Given the description of an element on the screen output the (x, y) to click on. 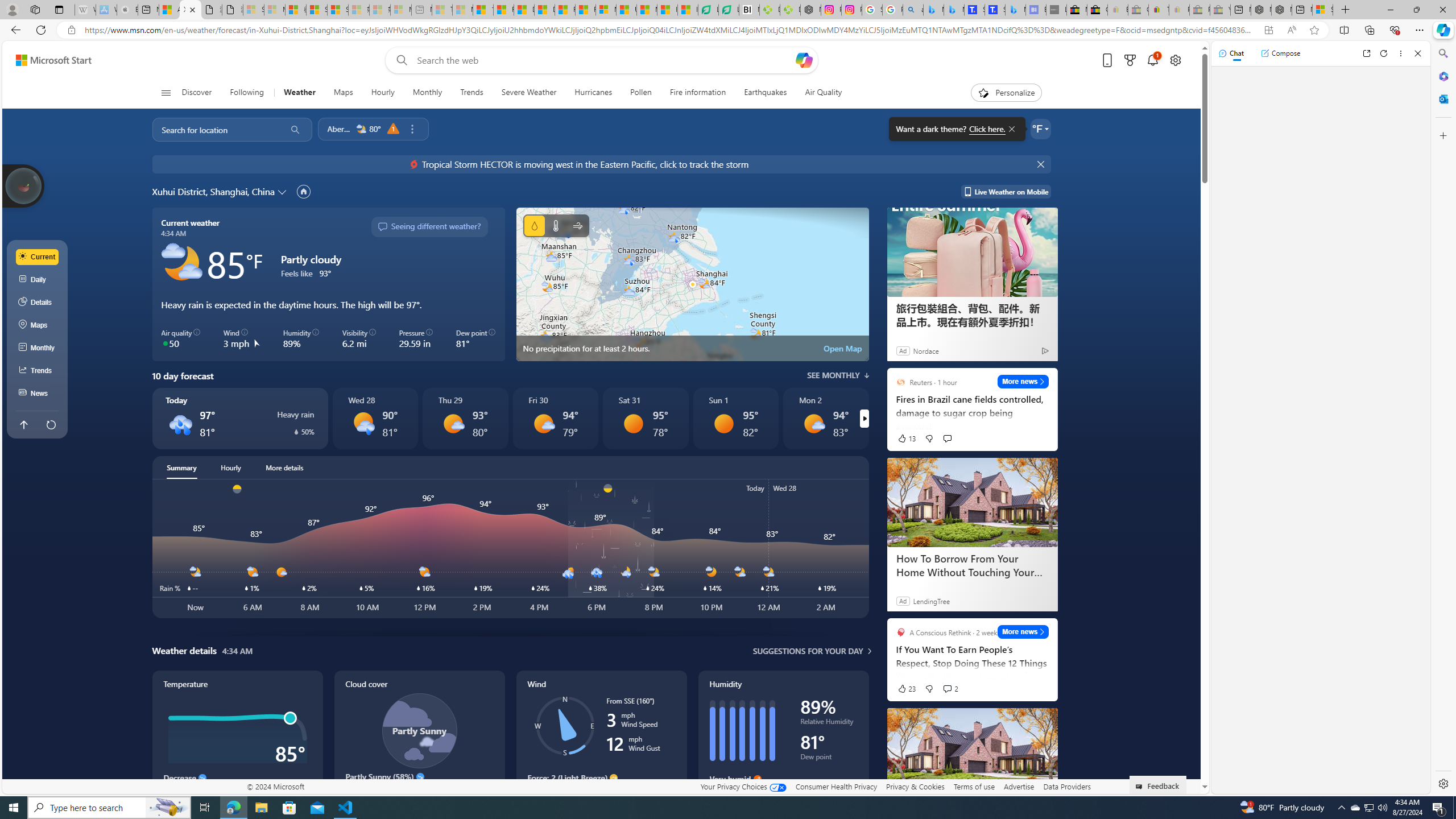
Light rain showers (362, 422)
Pollen (641, 92)
Temperature (556, 225)
Privacy & Cookies (915, 786)
Class: miniMapRadarSVGView-DS-EntryPoint1-1 (692, 284)
Maps (37, 325)
Class: feedback_link_icon-DS-EntryPoint1-1 (1140, 786)
Open navigation menu (164, 92)
Open Map (842, 348)
